Given the description of an element on the screen output the (x, y) to click on. 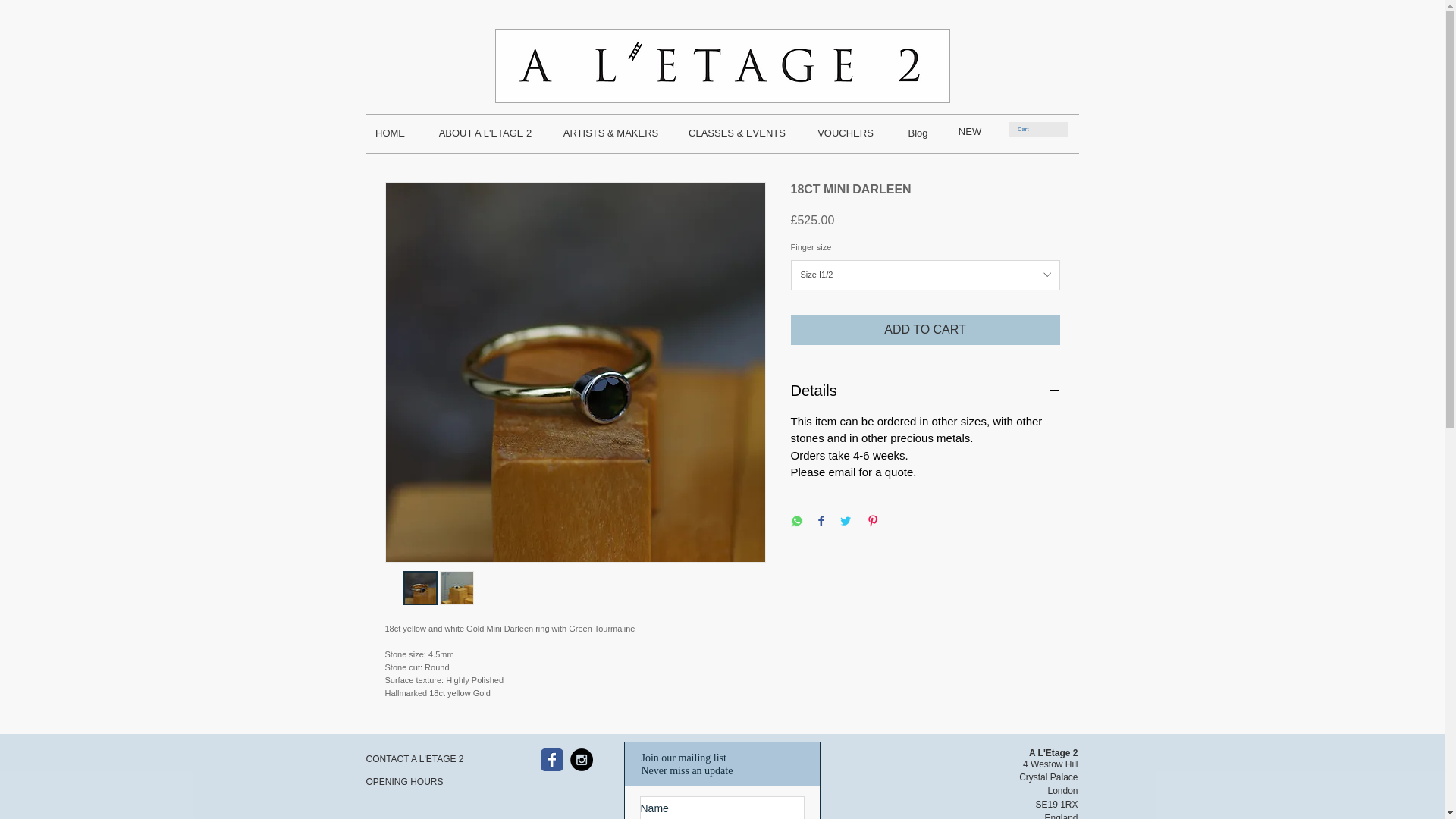
OPENING HOURS (418, 781)
NEW (969, 131)
CONTACT A L'ETAGE 2 (418, 758)
VOUCHERS (844, 133)
HOME (390, 133)
ABOUT A L'ETAGE 2 (485, 133)
Blog (917, 133)
ADD TO CART (924, 329)
Cart (1028, 129)
Cart (1028, 129)
Details (924, 390)
